Given the description of an element on the screen output the (x, y) to click on. 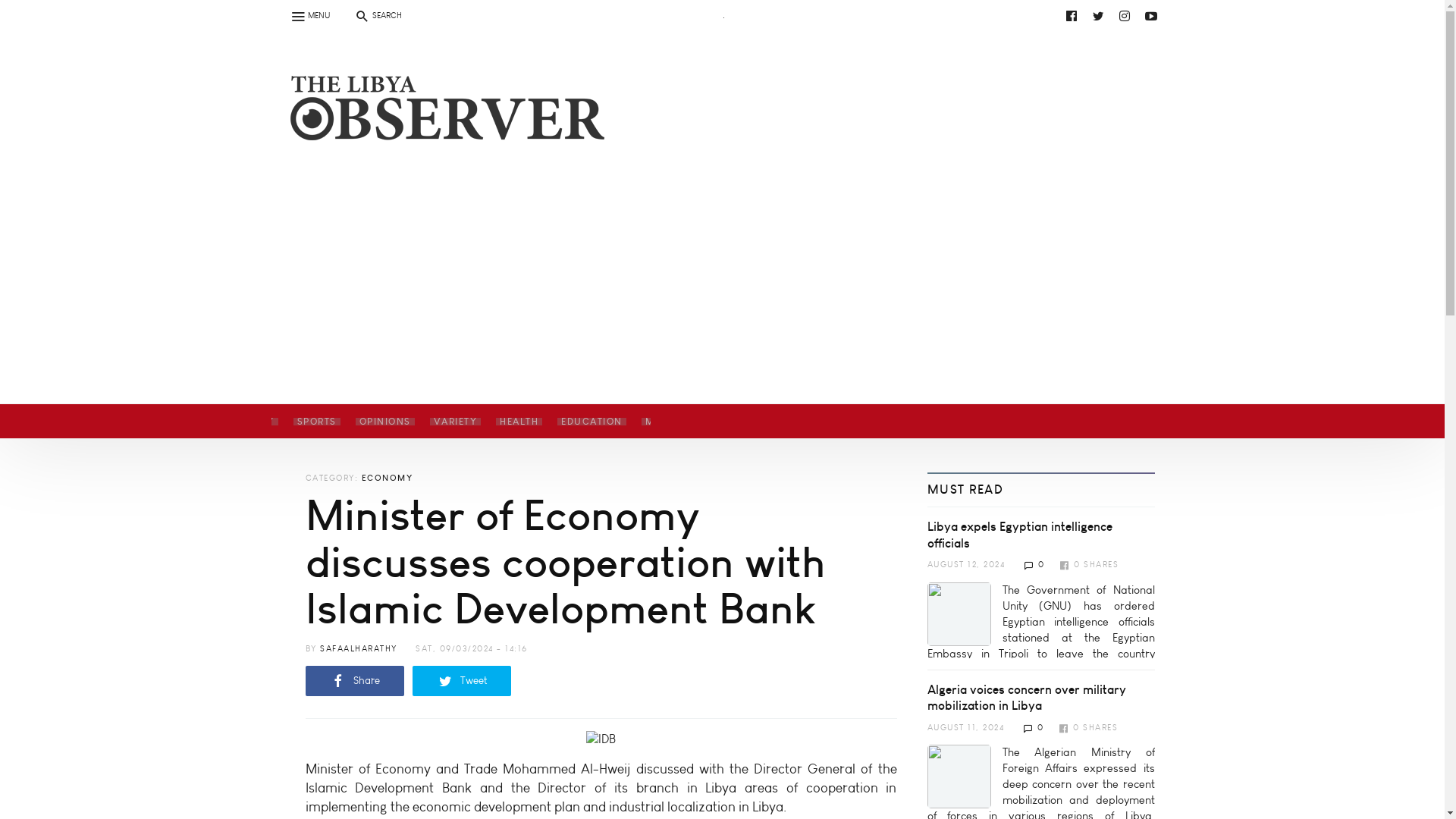
ECONOMY (246, 421)
youtube (1150, 14)
SPORTS (316, 421)
MENU (309, 15)
youtube (736, 14)
HEALTH (518, 421)
View user profile. (358, 648)
youtube (449, 52)
OPINIONS (384, 421)
